Given the description of an element on the screen output the (x, y) to click on. 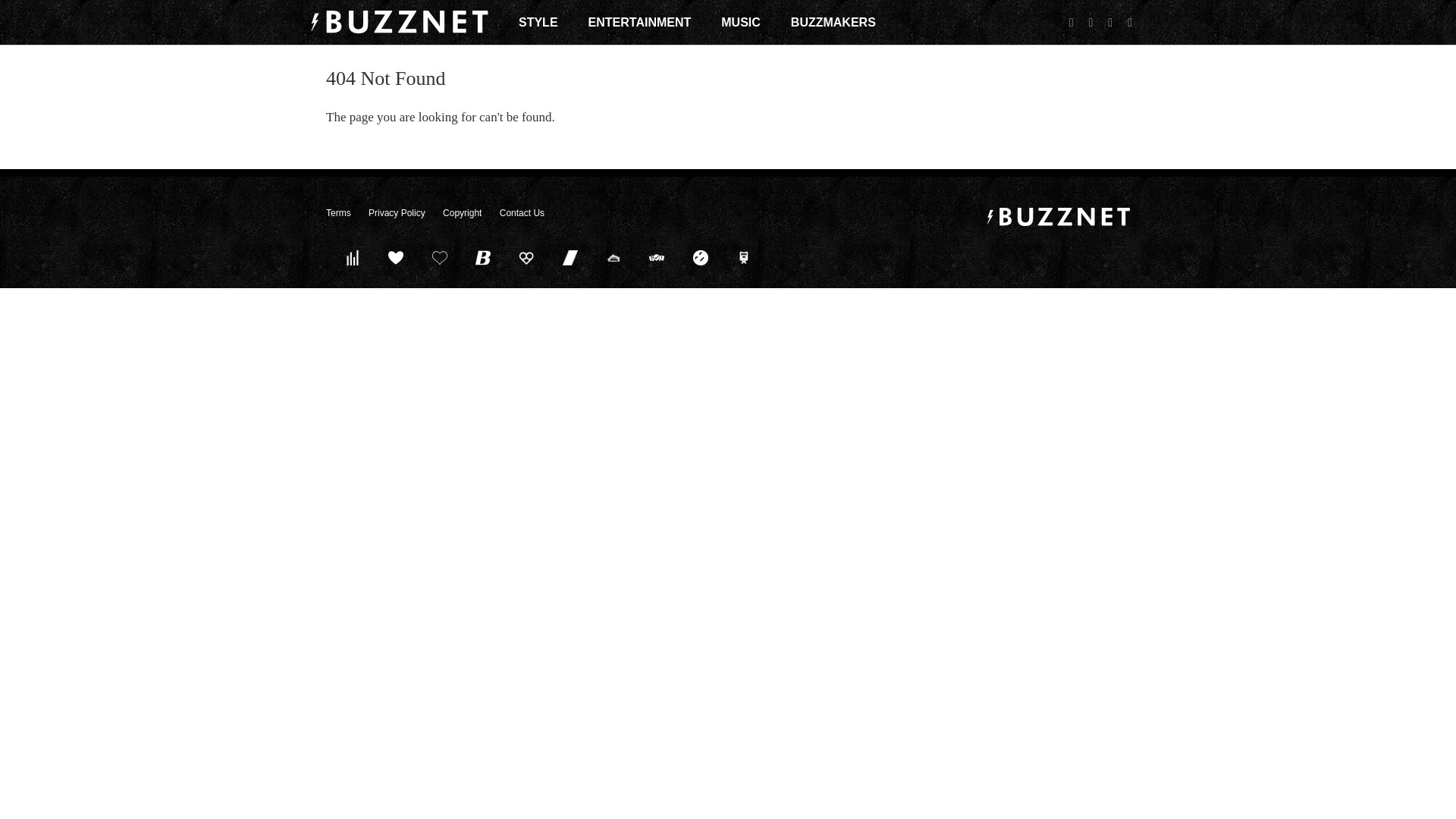
Trend Chaser (570, 257)
Hooch (526, 257)
Taco Relish (612, 257)
ENTERTAINMENT (639, 22)
MUSIC (740, 22)
BleacherBreaker (483, 257)
Idolator (395, 257)
Contact Us (521, 213)
Terms (338, 213)
Quizscape (656, 257)
Copyright (461, 213)
Privacy Policy (396, 213)
STYLE (538, 22)
Explored Hollywood (743, 257)
Pure Volume (351, 257)
